Given the description of an element on the screen output the (x, y) to click on. 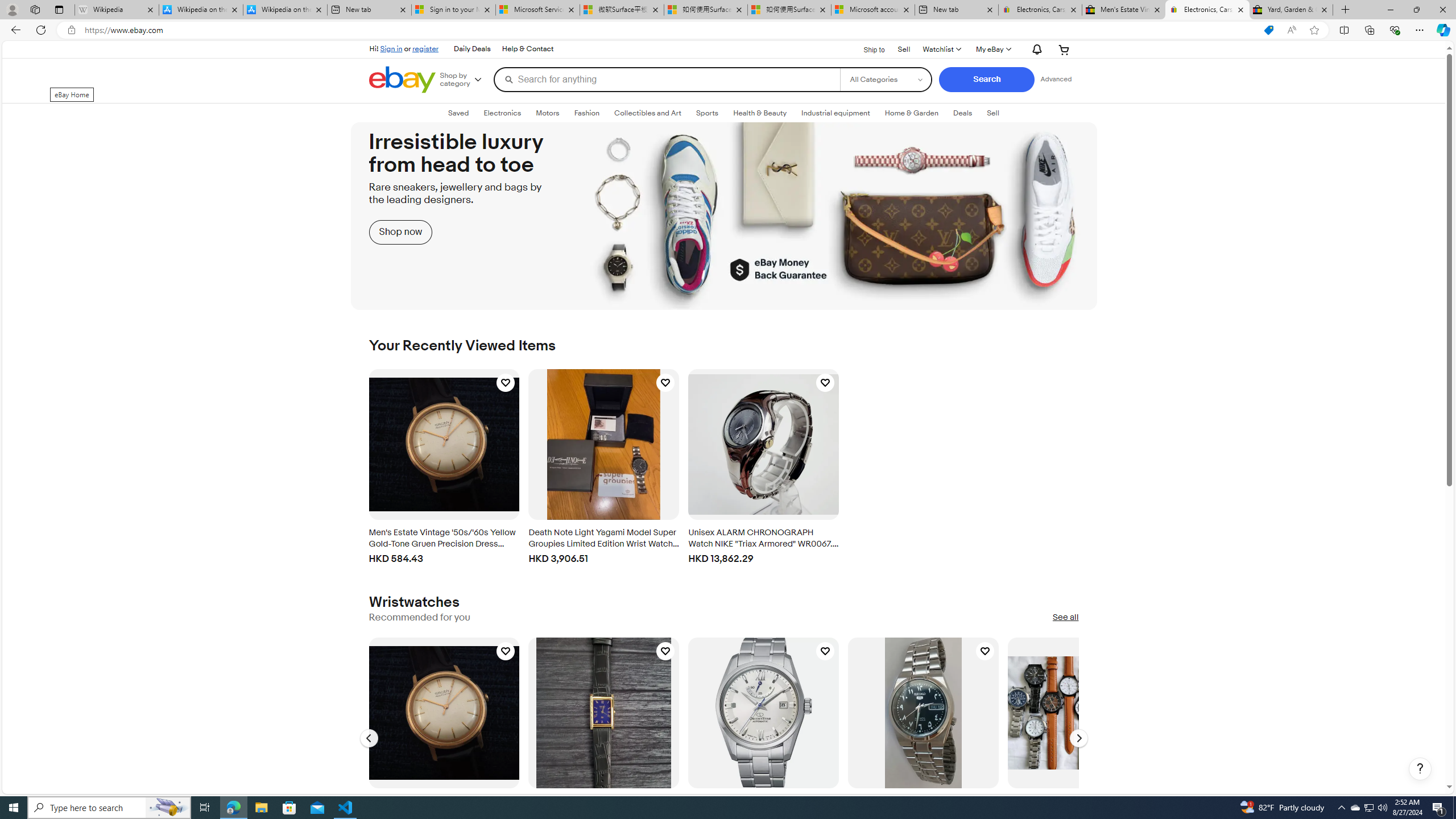
Search for anything (666, 78)
Electronics (502, 112)
Help & Contact (527, 49)
Sign in (391, 48)
See all (1065, 617)
